Given the description of an element on the screen output the (x, y) to click on. 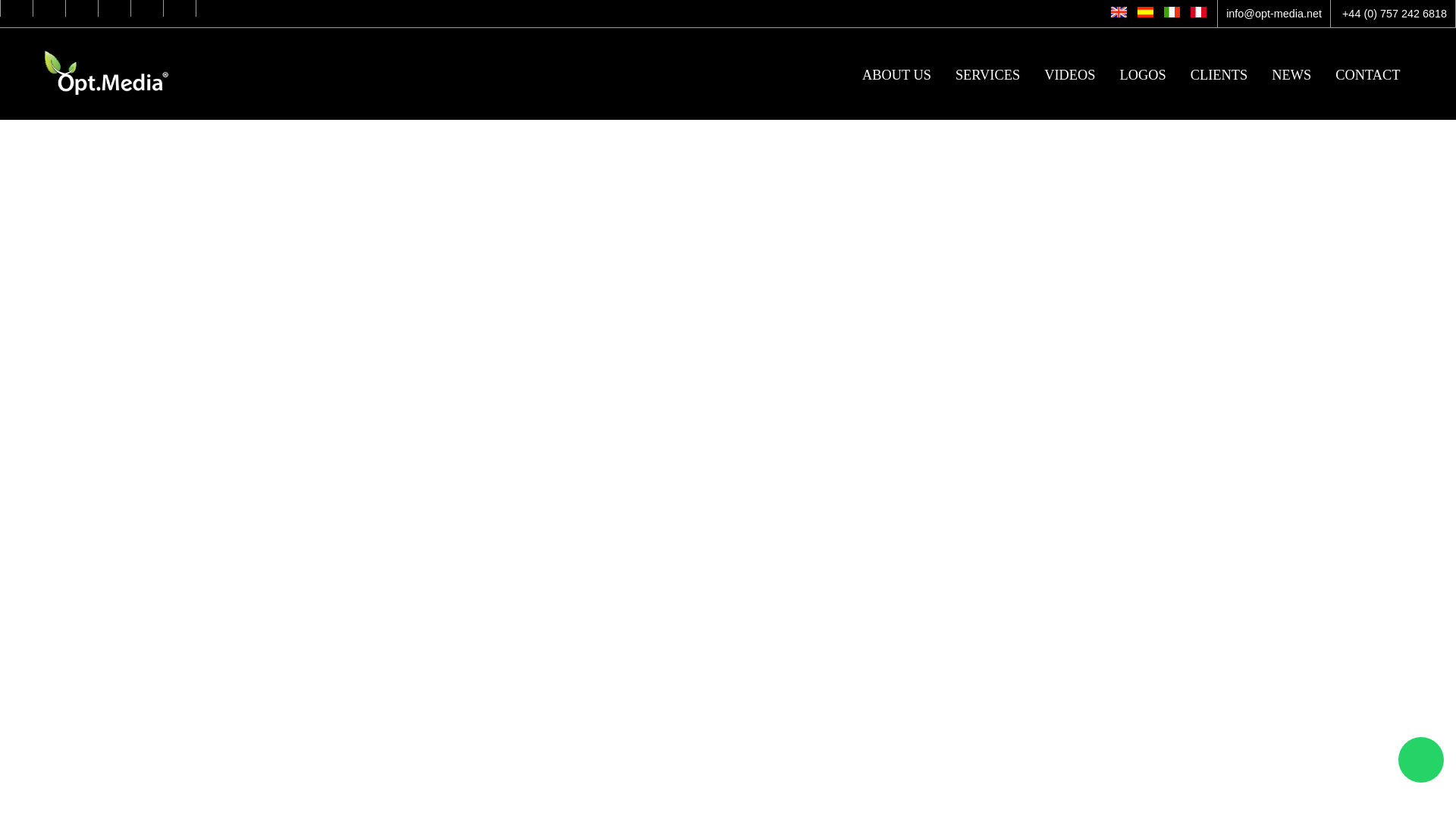
LOGOS (1142, 75)
CLIENTS (1219, 75)
CONTACT (1366, 75)
Siguenos en: Facebook (16, 8)
Siguenos en: Youtube (81, 8)
Siguenos en: Linkedin (147, 8)
NEWS (1291, 75)
Siguenos en: Instagram (179, 8)
Siguenos en: Skype (115, 8)
Siguenos en: Twitter (49, 8)
